Given the description of an element on the screen output the (x, y) to click on. 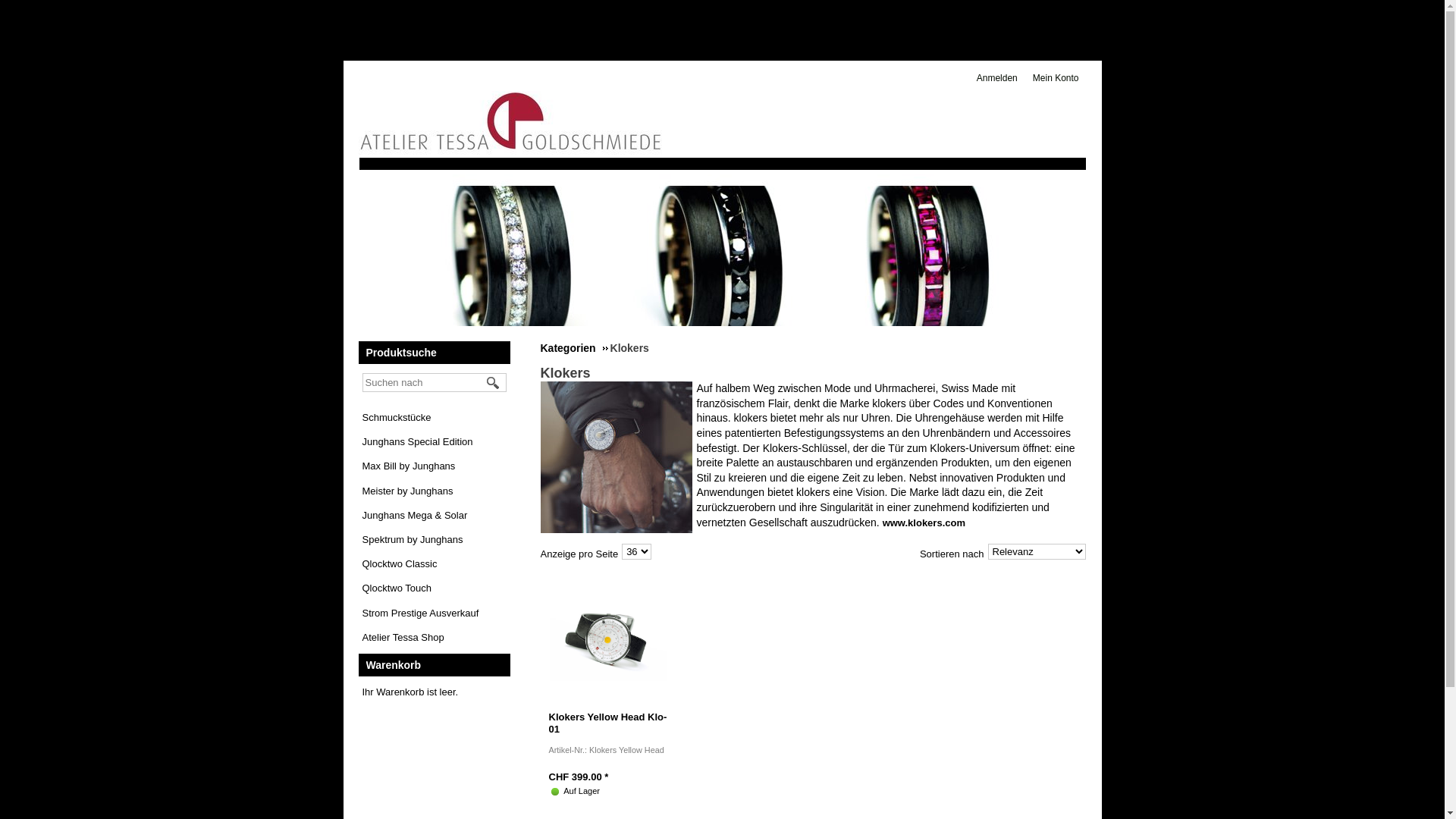
Strom Prestige Ausverkauf Element type: text (420, 612)
Junghans Mega & Solar Element type: text (414, 514)
Atelier Tessa Goldschmiede Online Element type: hover (509, 121)
Max Bill by Junghans Element type: text (408, 465)
Anmelden Element type: text (1000, 78)
Qlocktwo Classic Element type: text (399, 563)
Zum Produkt Element type: hover (608, 638)
Mein Konto Element type: text (1059, 78)
Atelier Tessa Shop Element type: text (403, 637)
Auf Lager Element type: hover (555, 791)
Spektrum by Junghans Element type: text (412, 539)
Kategorien Element type: text (573, 348)
Meister by Junghans Element type: text (407, 490)
Junghans Special Edition Element type: text (417, 441)
Klokers Element type: hover (615, 457)
Suche starten Element type: hover (493, 382)
Qlocktwo Touch Element type: text (397, 587)
Klokers Yellow Head Klo-01 Element type: text (608, 722)
www.klokers.com Element type: text (923, 522)
